Given the description of an element on the screen output the (x, y) to click on. 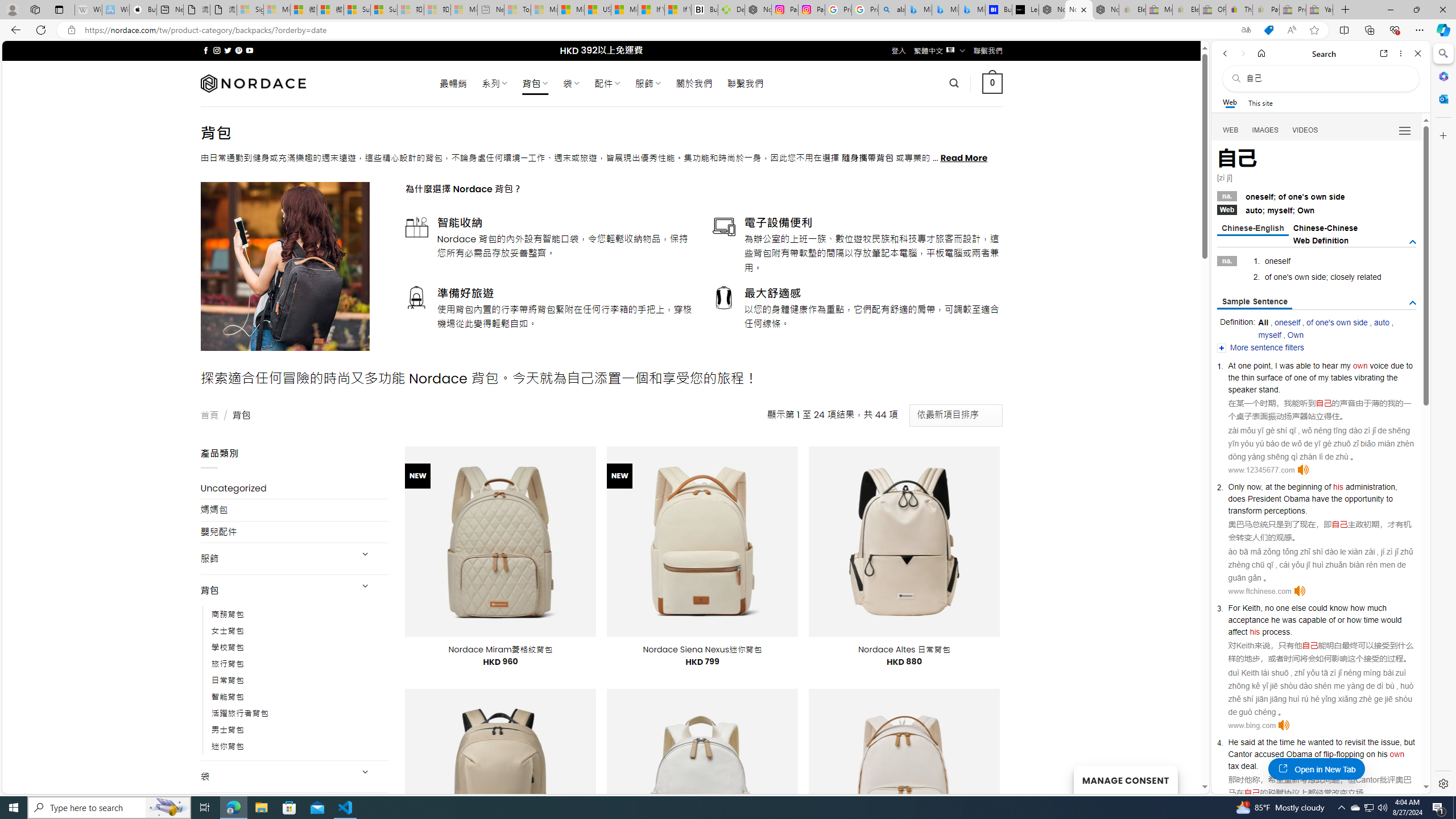
, (1400, 741)
  0   (992, 83)
process (1276, 631)
